Given the description of an element on the screen output the (x, y) to click on. 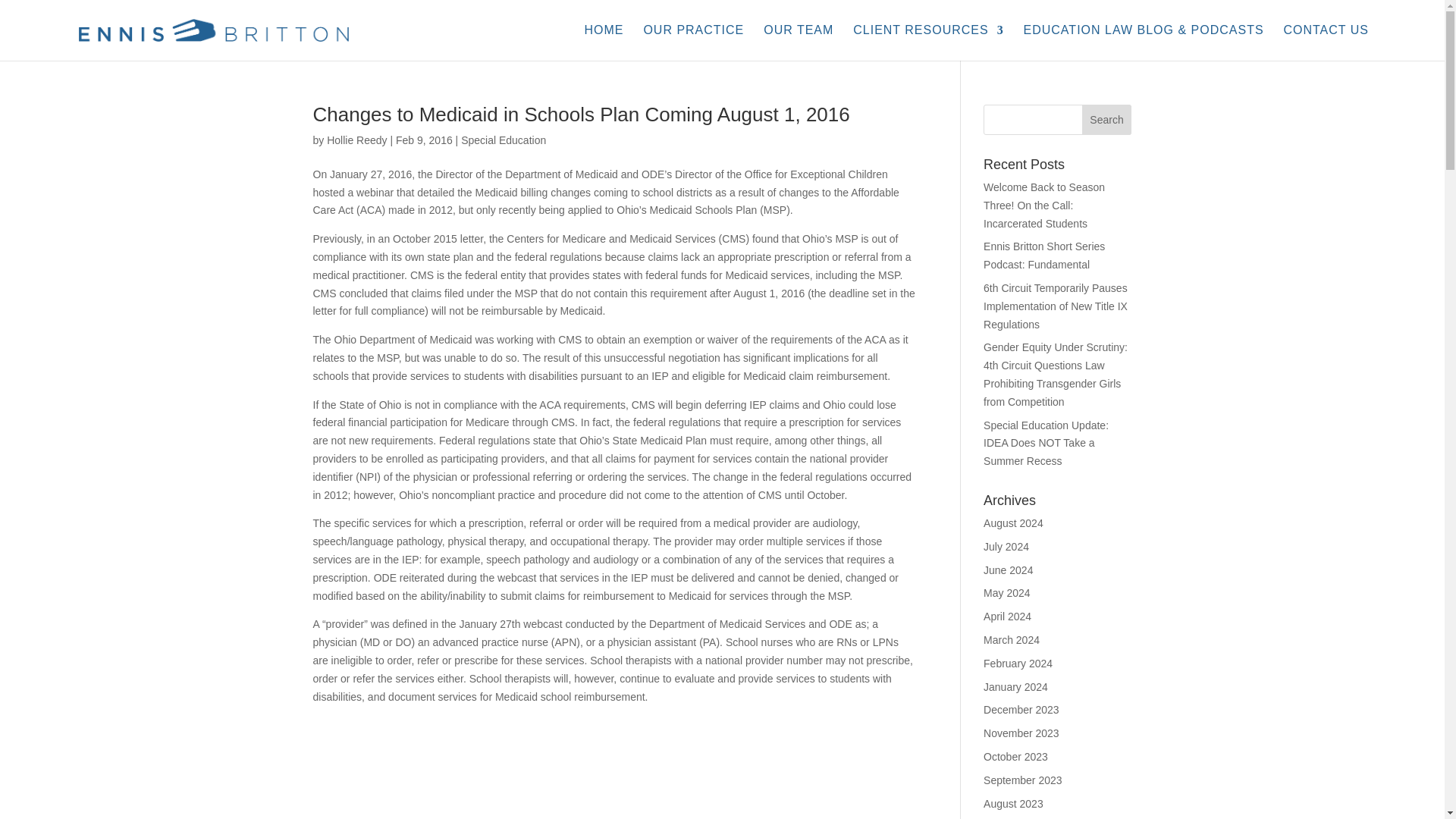
February 2024 (1018, 663)
OUR PRACTICE (693, 42)
January 2024 (1016, 686)
HOME (603, 42)
Search (1106, 119)
October 2023 (1016, 756)
CONTACT US (1325, 42)
Posts by Hollie Reedy (356, 140)
July 2024 (1006, 546)
